Given the description of an element on the screen output the (x, y) to click on. 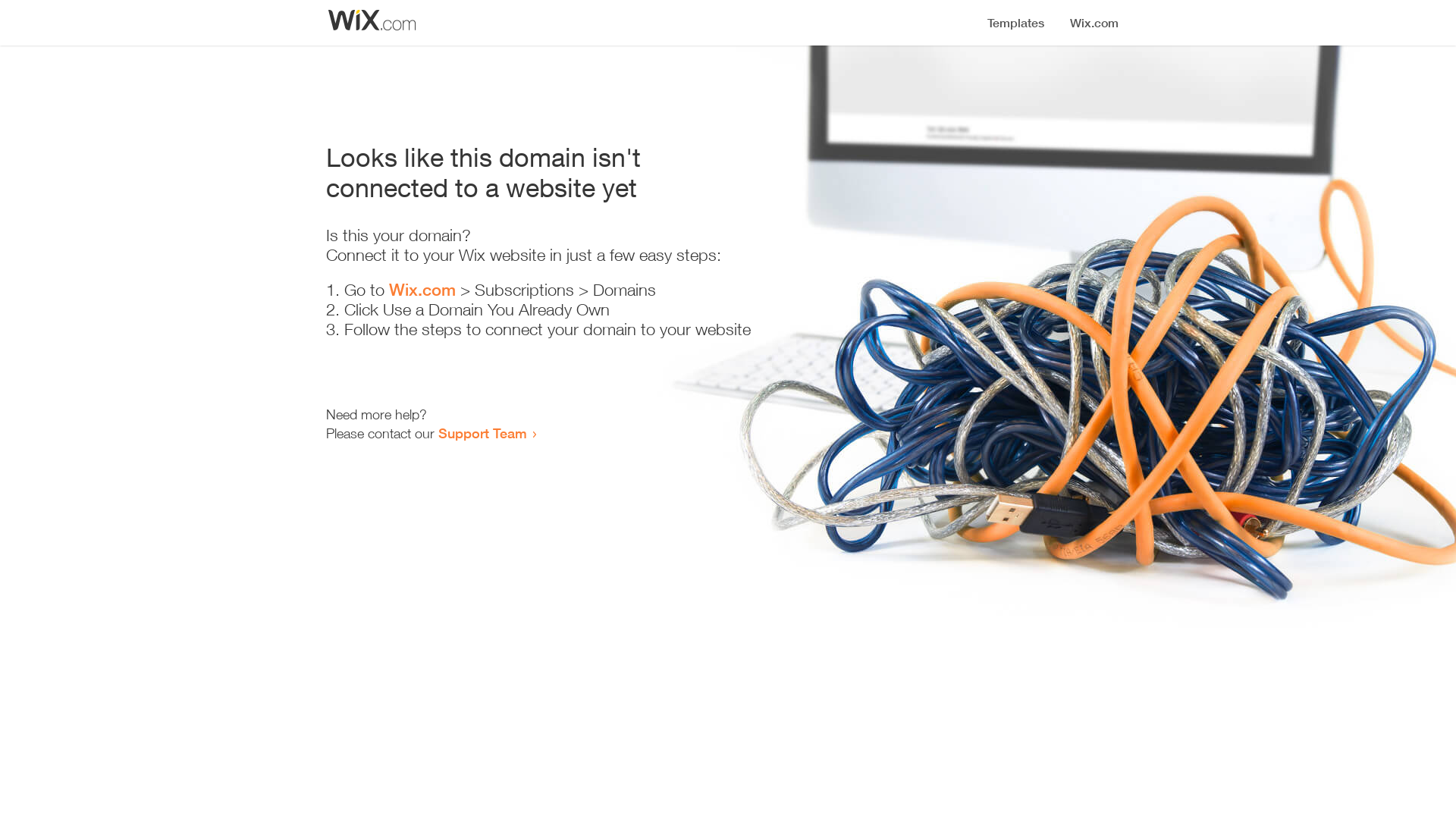
Support Team Element type: text (482, 432)
Wix.com Element type: text (422, 289)
